Given the description of an element on the screen output the (x, y) to click on. 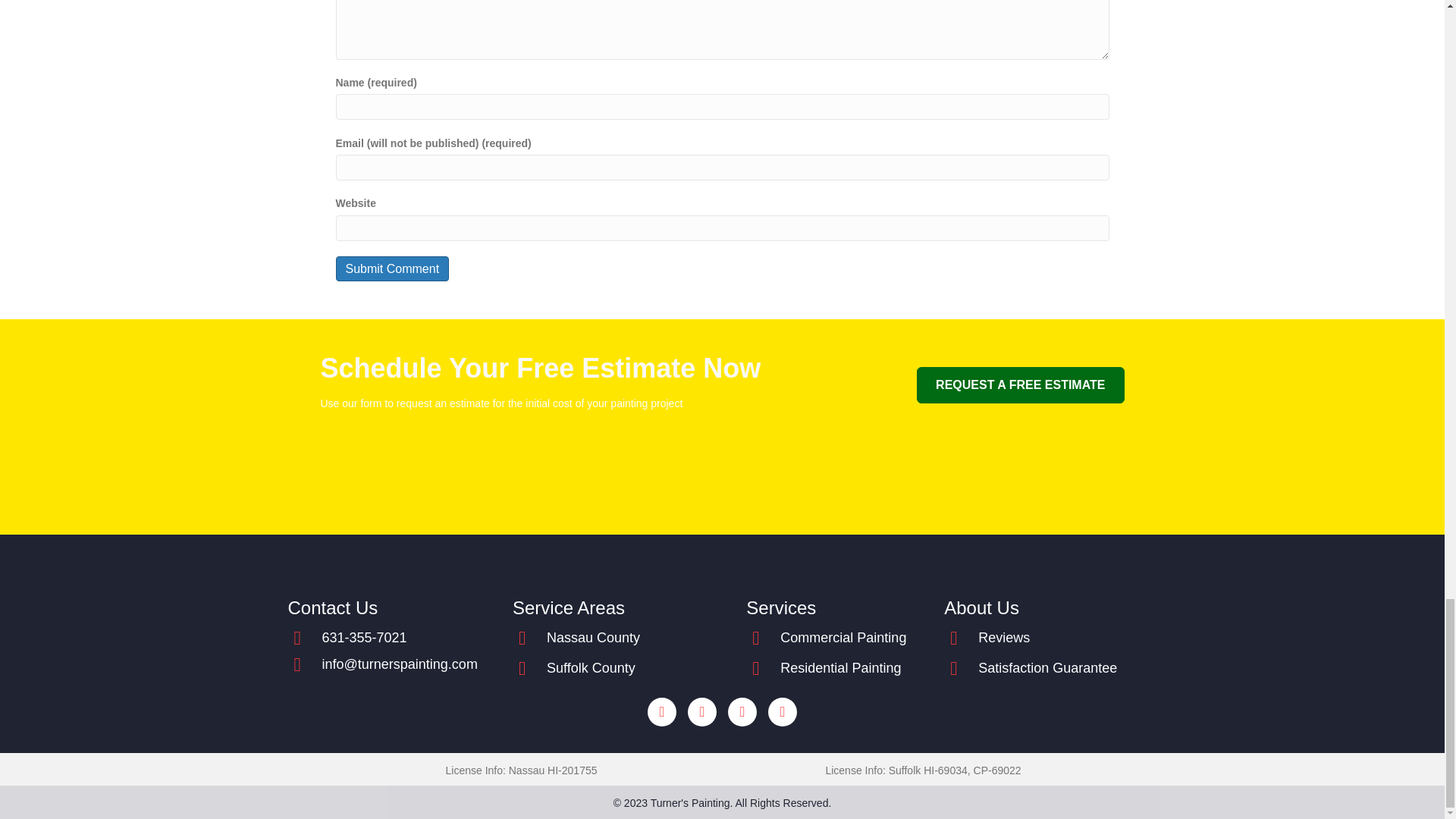
Submit Comment (391, 268)
